Given the description of an element on the screen output the (x, y) to click on. 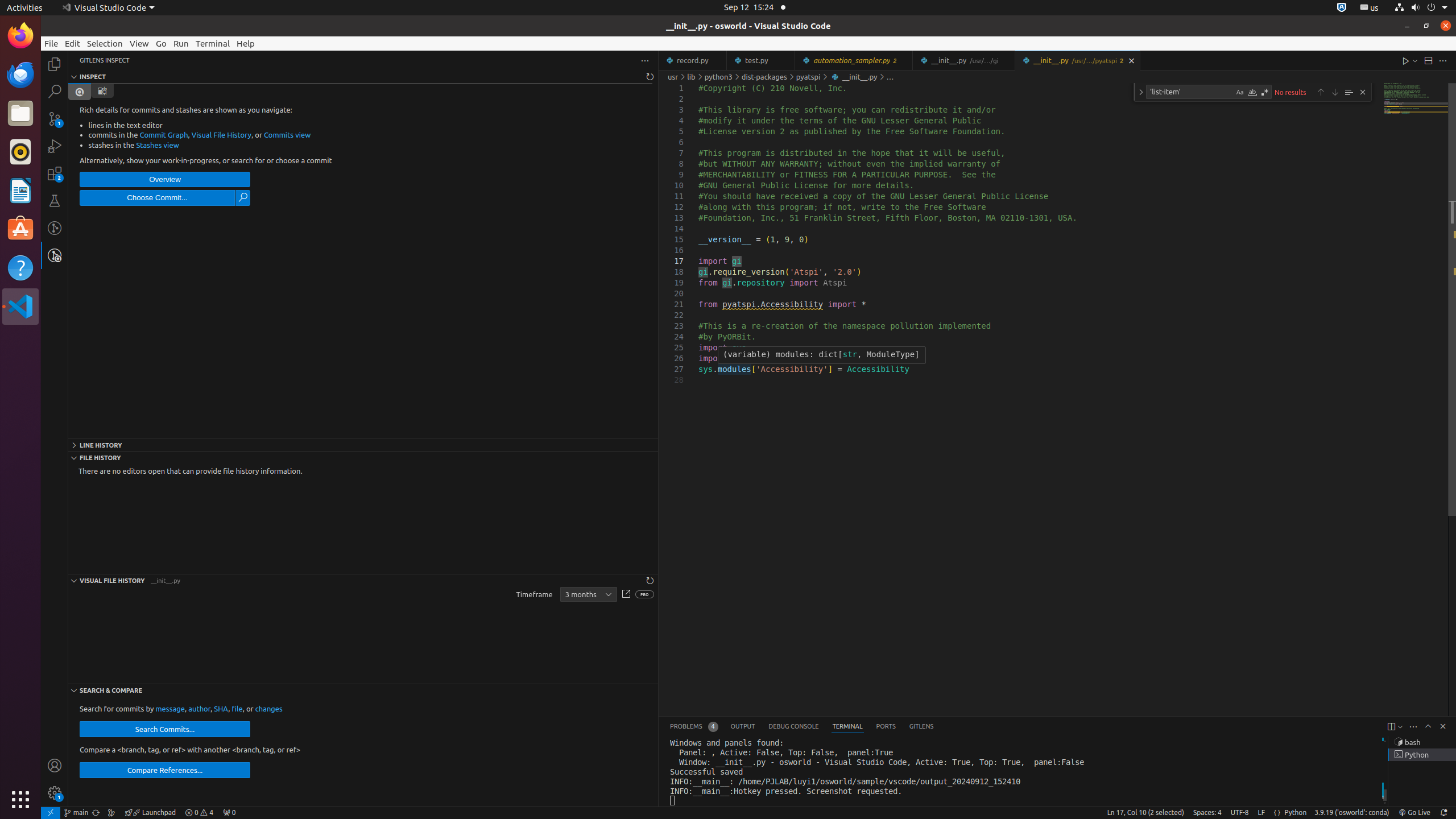
Search & Compare Section Element type: push-button (363, 689)
Notifications Element type: push-button (1443, 812)
Ln 17, Col 10 (2 selected) Element type: push-button (1144, 812)
View Element type: push-button (139, 43)
